Given the description of an element on the screen output the (x, y) to click on. 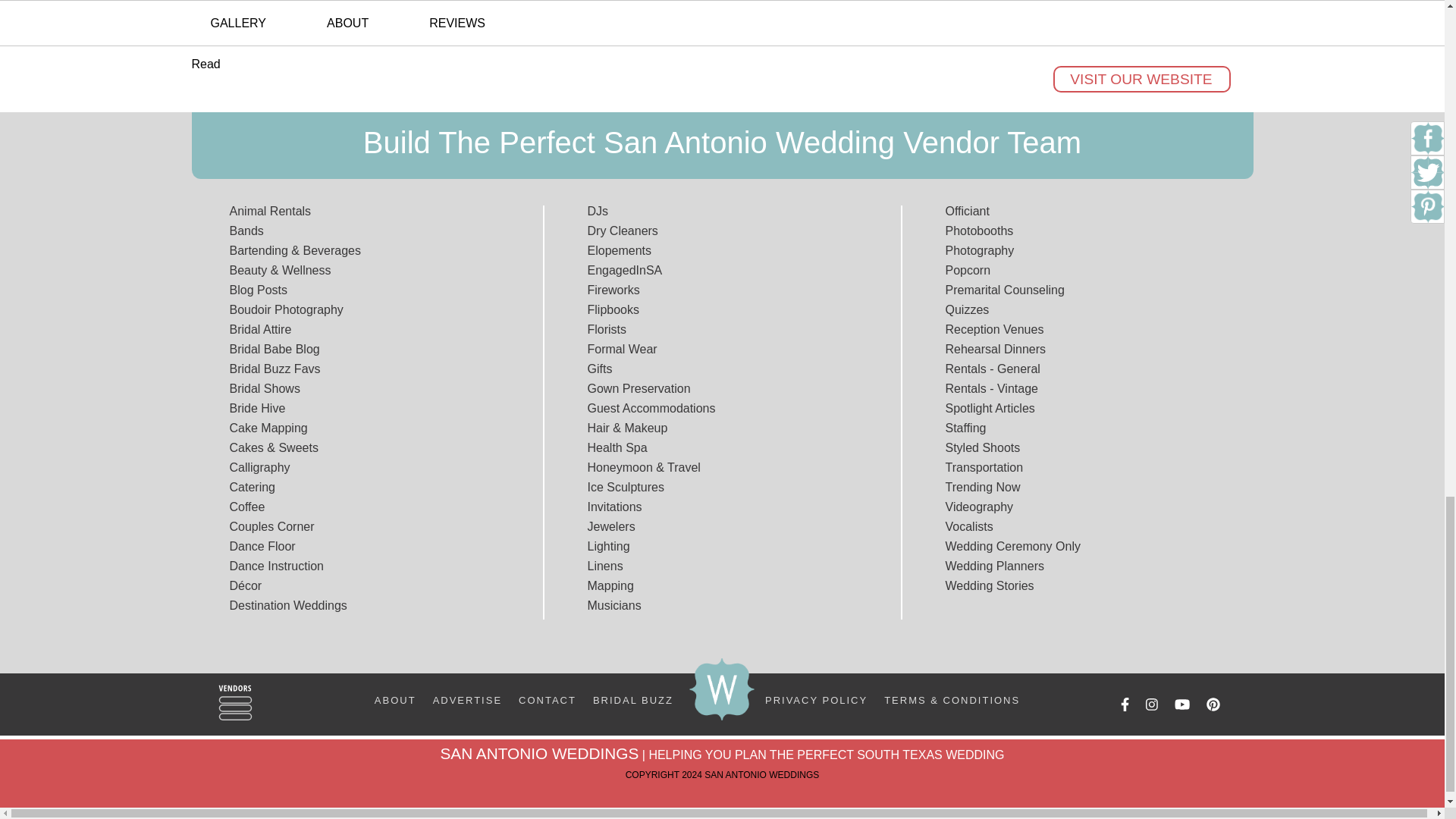
San Antonio Weddings (722, 689)
